Given the description of an element on the screen output the (x, y) to click on. 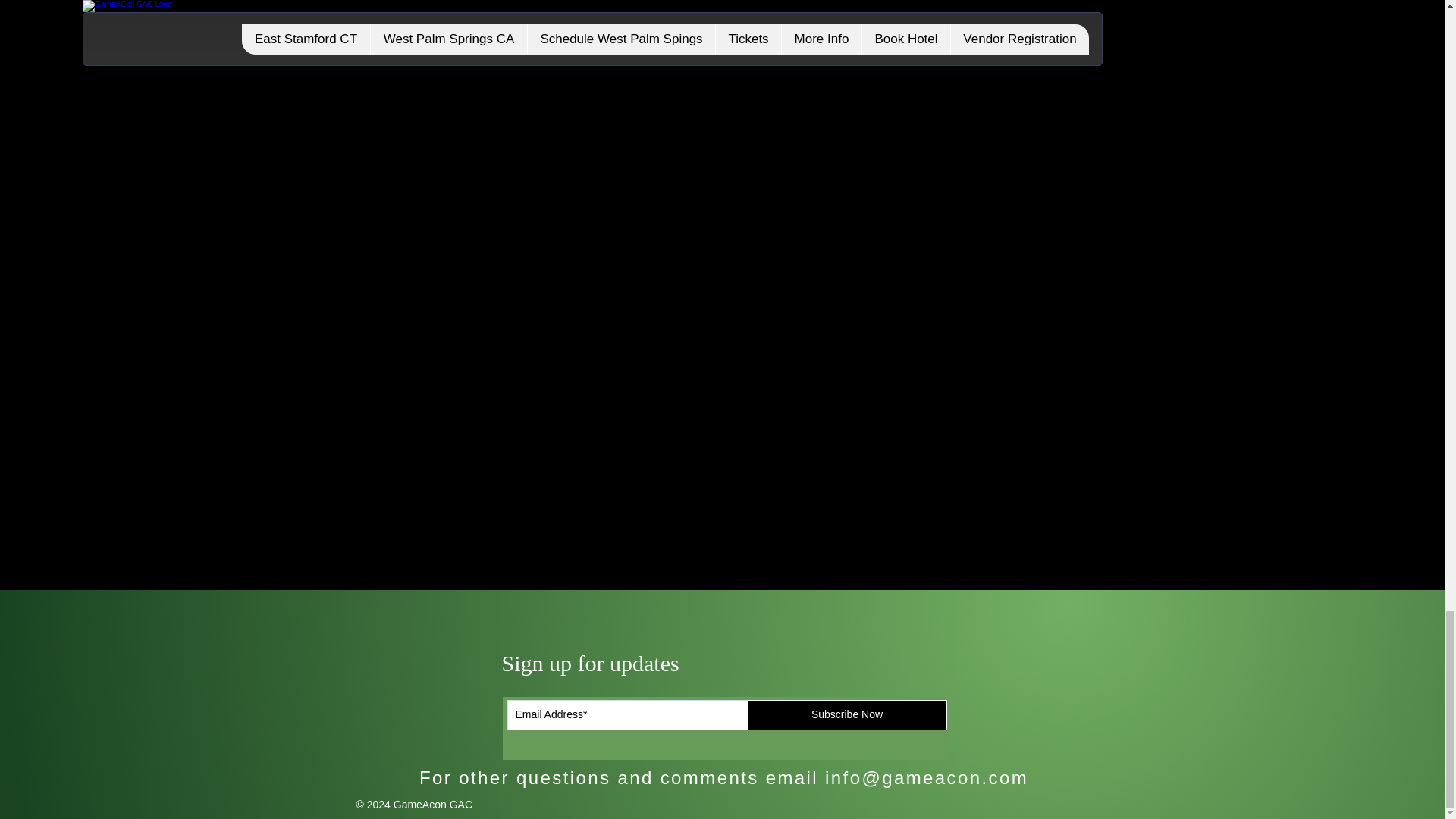
Subscribe Now (847, 715)
